Given the description of an element on the screen output the (x, y) to click on. 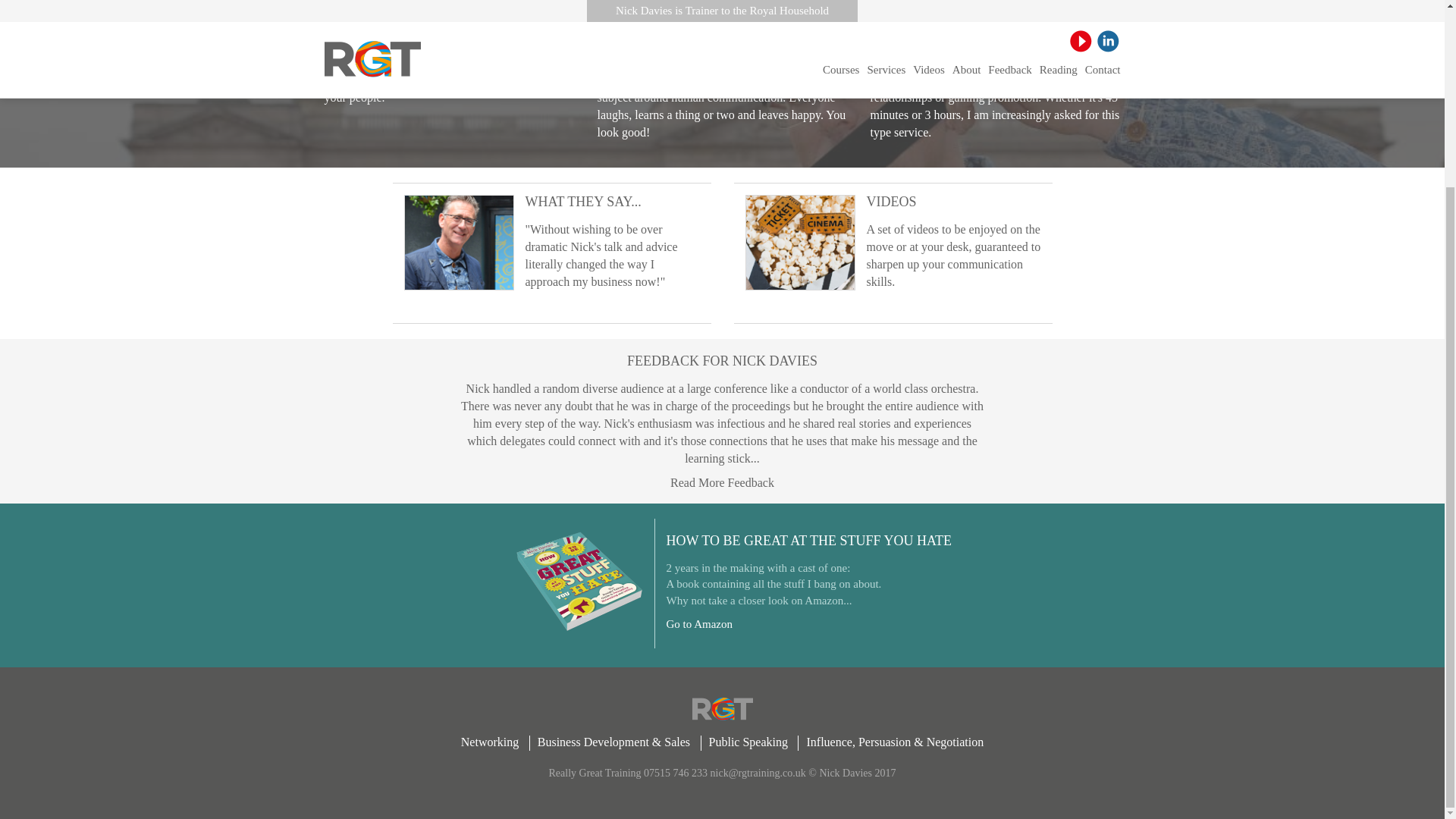
Public Speaking (747, 742)
Read More Feedback (721, 481)
Go to Amazon (698, 623)
Networking (488, 742)
